Given the description of an element on the screen output the (x, y) to click on. 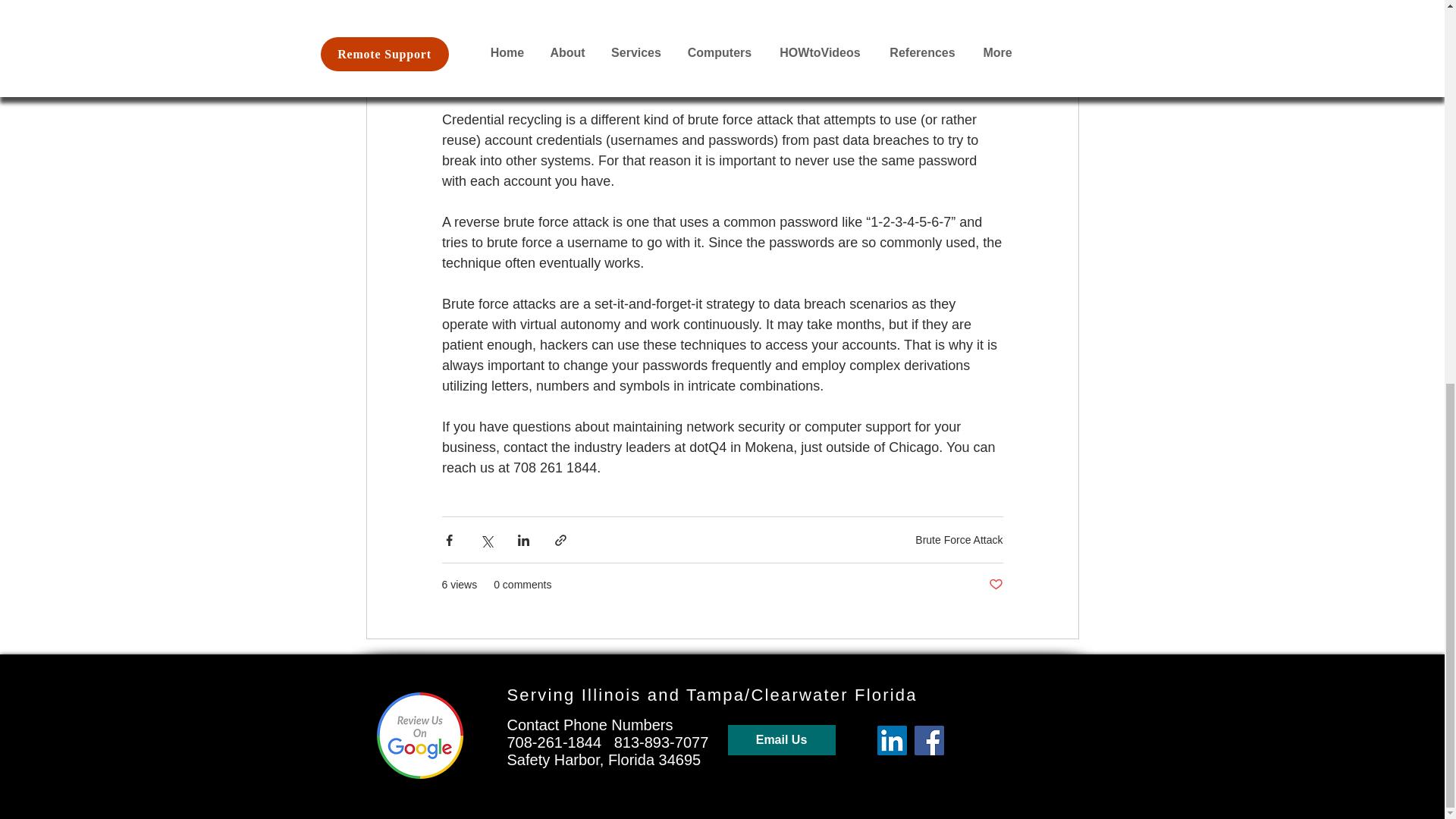
Post not marked as liked (995, 584)
Email Us (781, 739)
Brute Force Attack (959, 539)
